Given the description of an element on the screen output the (x, y) to click on. 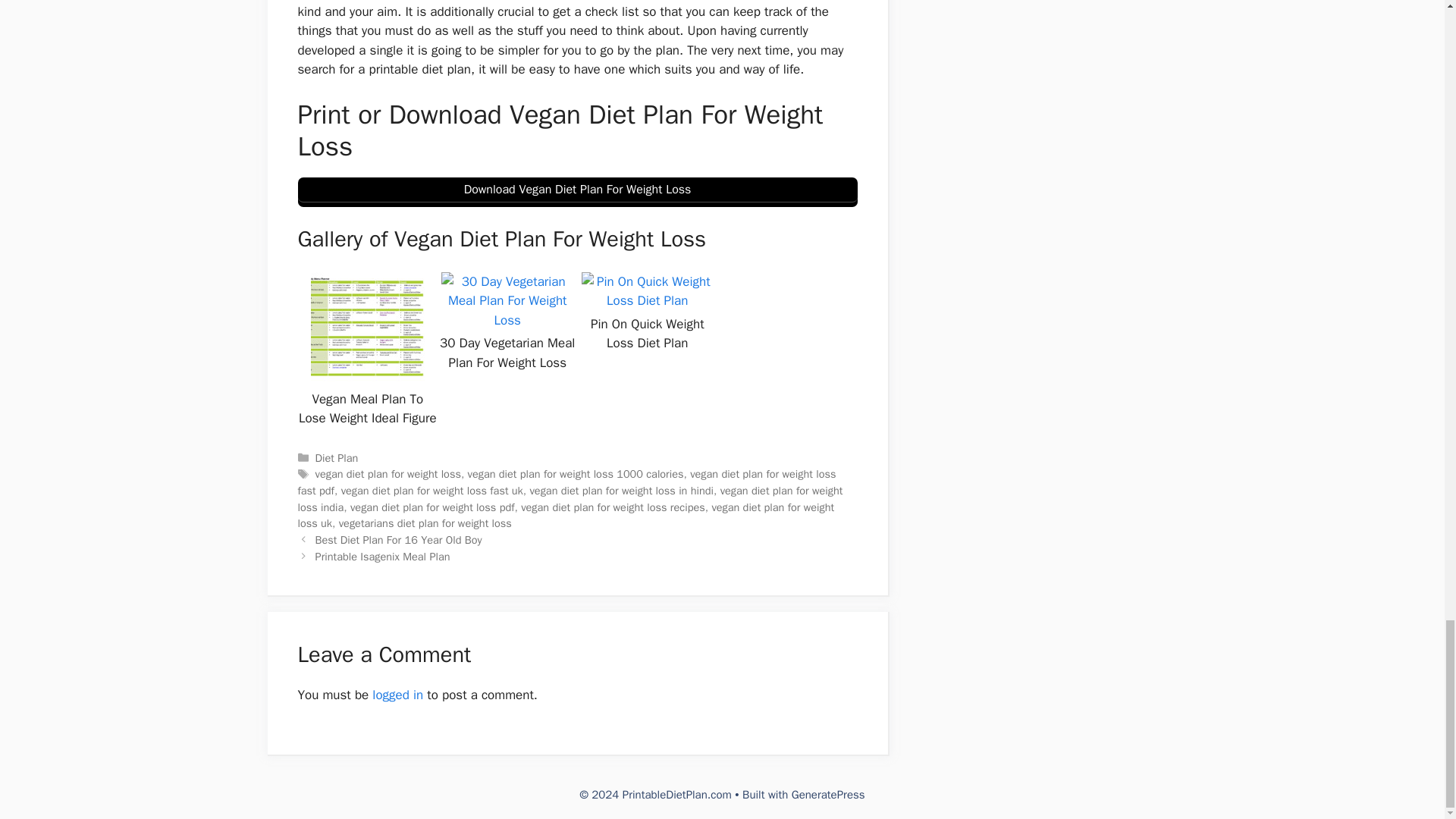
Download Vegan Diet Plan For Weight Loss (577, 192)
vegan diet plan for weight loss fast pdf (566, 481)
vegan diet plan for weight loss recipes (612, 507)
vegan diet plan for weight loss 1000 calories (575, 473)
vegan diet plan for weight loss india (570, 499)
vegan diet plan for weight loss fast uk (431, 490)
vegetarians diet plan for weight loss (425, 522)
vegan diet plan for weight loss uk (565, 515)
Printable Isagenix Meal Plan (382, 556)
vegan diet plan for weight loss pdf (432, 507)
